Given the description of an element on the screen output the (x, y) to click on. 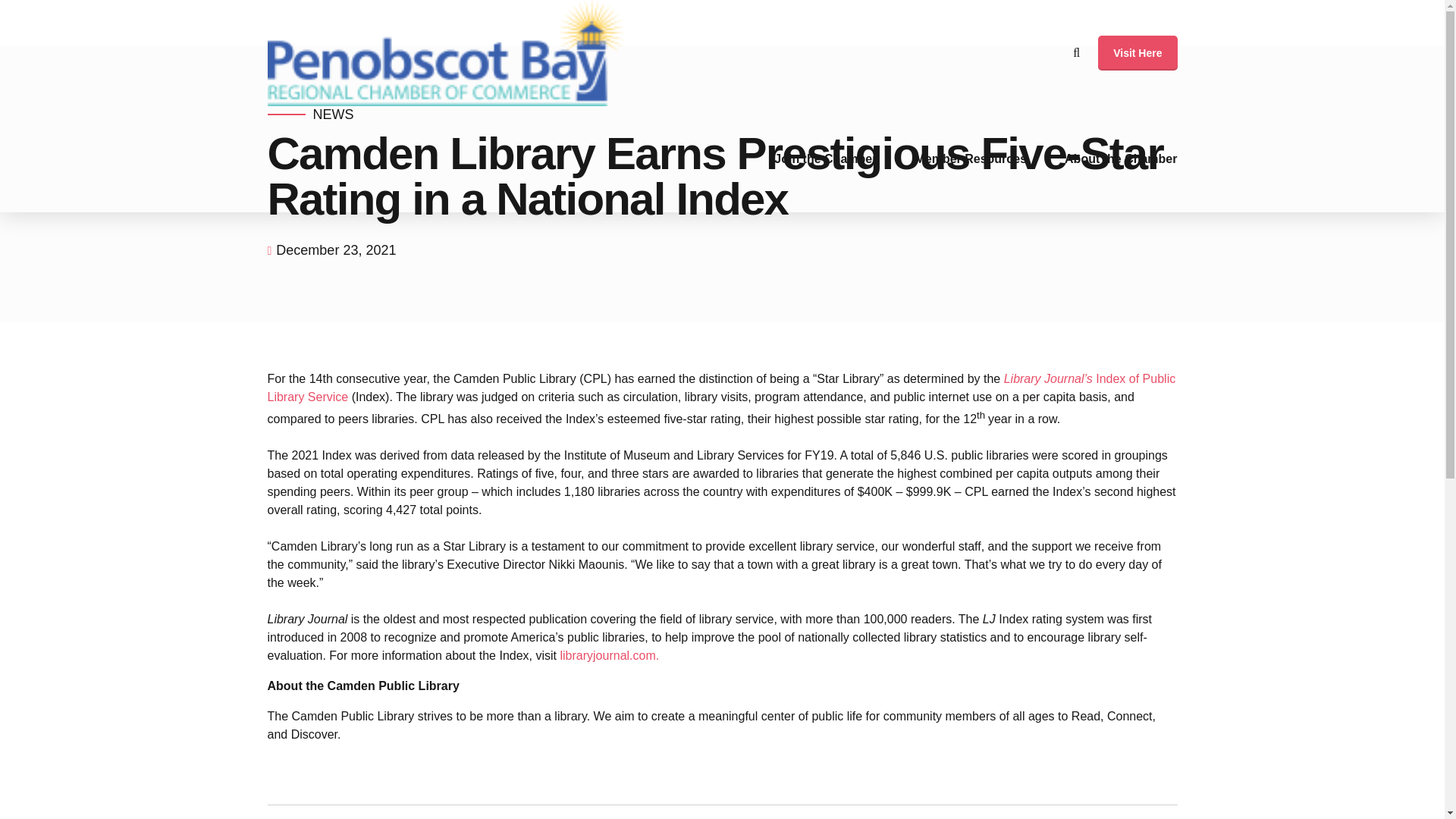
Join the Chamber (825, 159)
Member Resources (970, 159)
NEWS (333, 114)
Visit Here (1136, 53)
Visit Here (1136, 53)
About the Chamber (1120, 159)
libraryjournal.com. (609, 655)
